Given the description of an element on the screen output the (x, y) to click on. 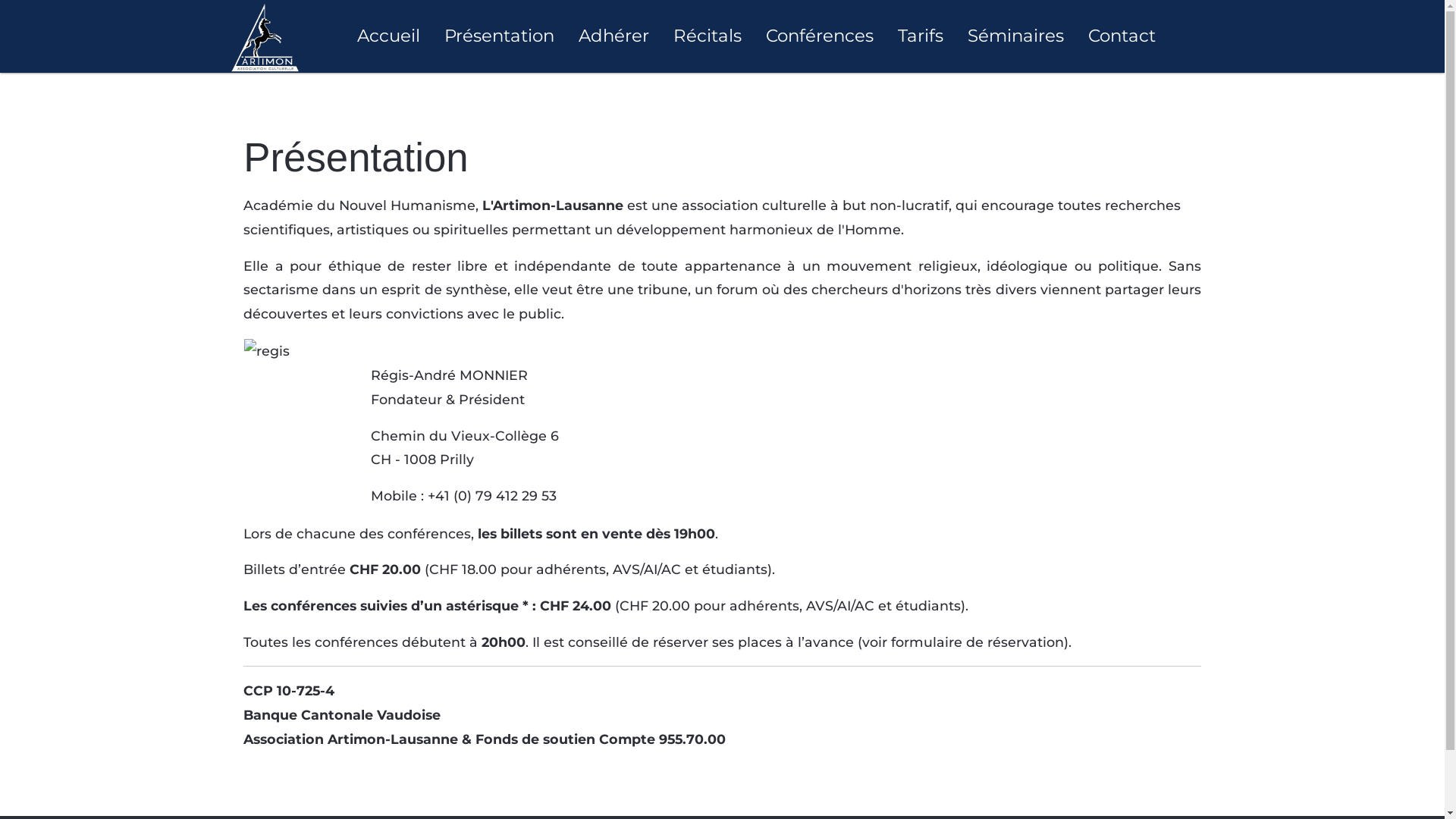
Accueil Element type: text (388, 35)
Tarifs Element type: text (920, 35)
Contact Element type: text (1121, 35)
